Given the description of an element on the screen output the (x, y) to click on. 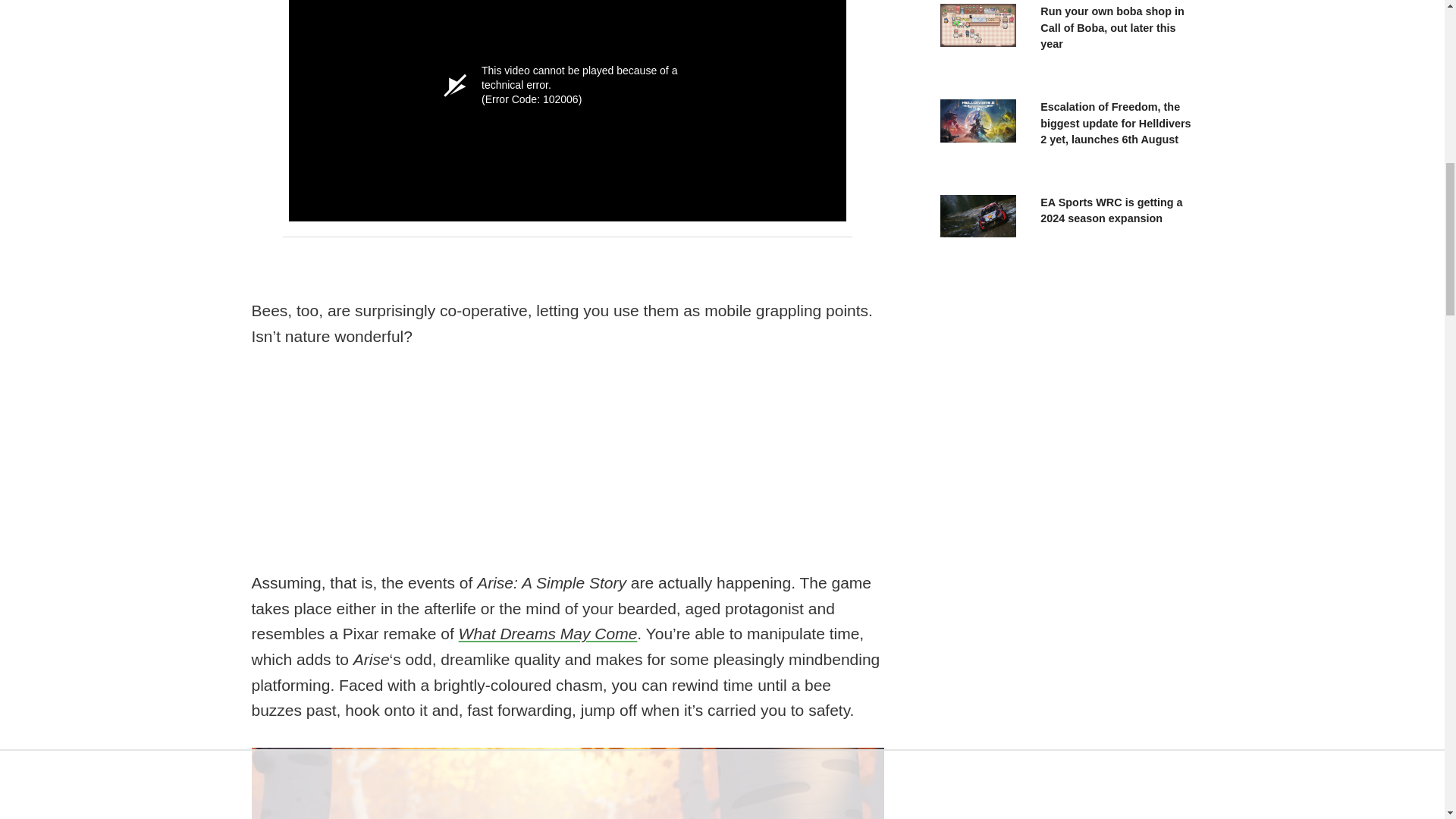
What Dreams May Come (547, 633)
